Given the description of an element on the screen output the (x, y) to click on. 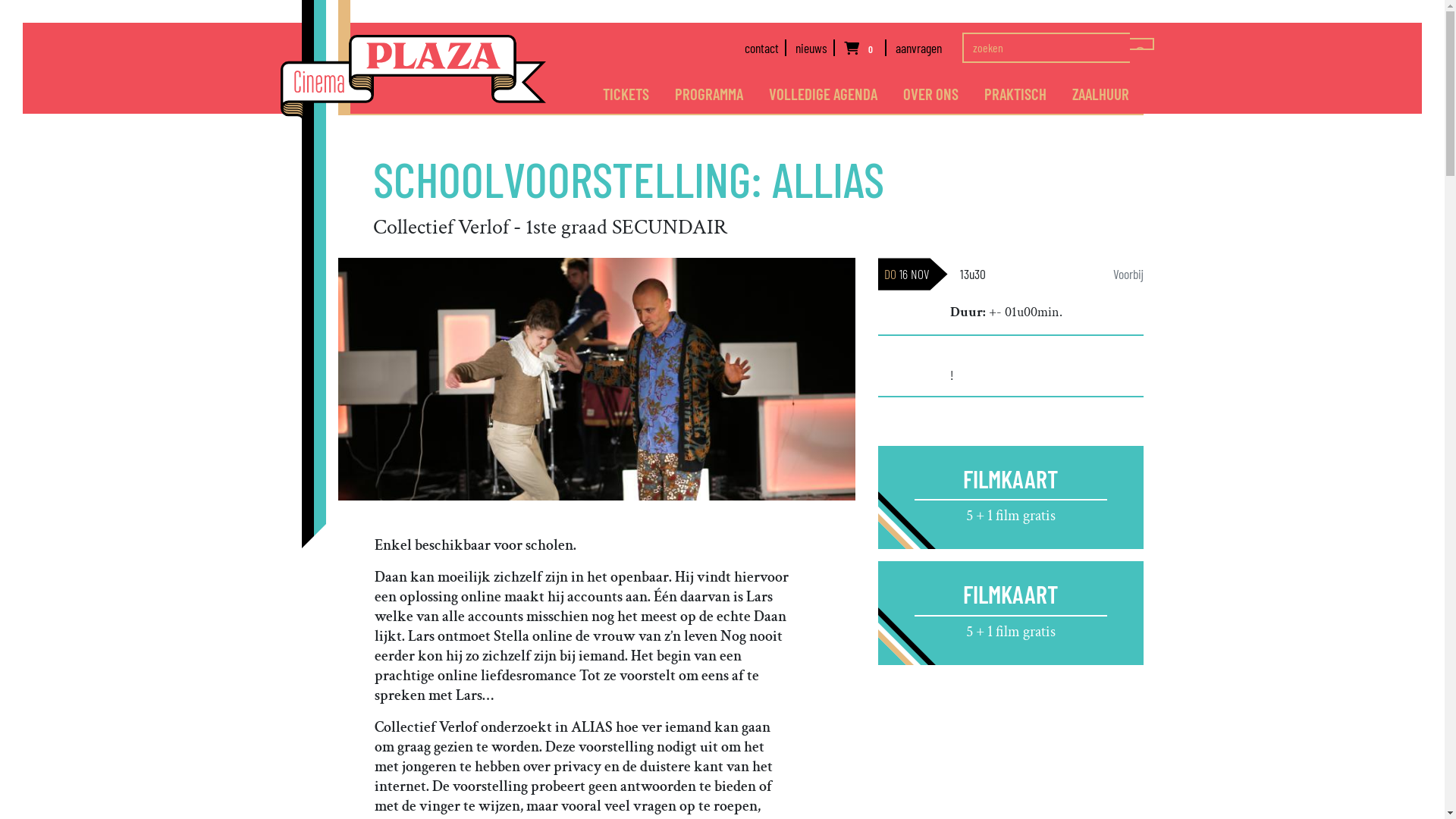
PRAKTISCH Element type: text (1015, 93)
aanvragen Element type: text (921, 47)
FILMKAART
5 + 1 film gratis Element type: text (1010, 497)
nieuws Element type: text (814, 47)
VOLLEDIGE AGENDA Element type: text (822, 93)
ZAALHUUR Element type: text (1100, 93)
Overslaan en naar de inhoud gaan Element type: text (721, 23)
PROGRAMMA Element type: text (708, 93)
TICKETS Element type: text (625, 93)
FILMKAART
5 + 1 film gratis Element type: text (1010, 612)
OVER ONS Element type: text (930, 93)
0 Element type: text (865, 47)
contact Element type: text (765, 47)
